Given the description of an element on the screen output the (x, y) to click on. 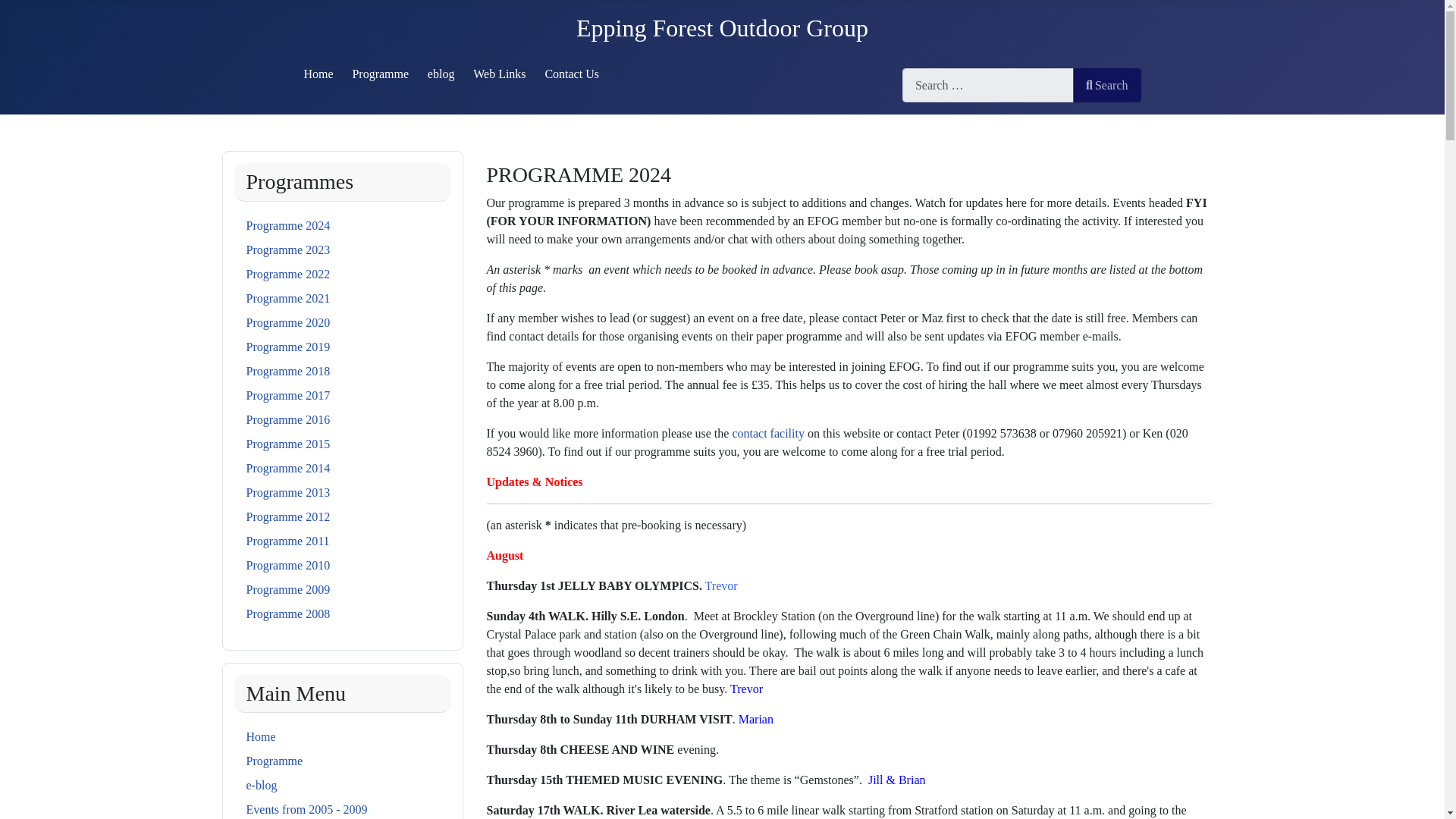
Programme 2023 (288, 249)
Contact Us (571, 73)
Programme (380, 73)
Events from 2005 - 2009 (306, 809)
Programme 2022 (288, 273)
Home (260, 736)
Programme 2024 (288, 225)
Programme 2010 (288, 564)
Epping Forest Outdoor Group (721, 27)
Programme 2021 (288, 297)
